Given the description of an element on the screen output the (x, y) to click on. 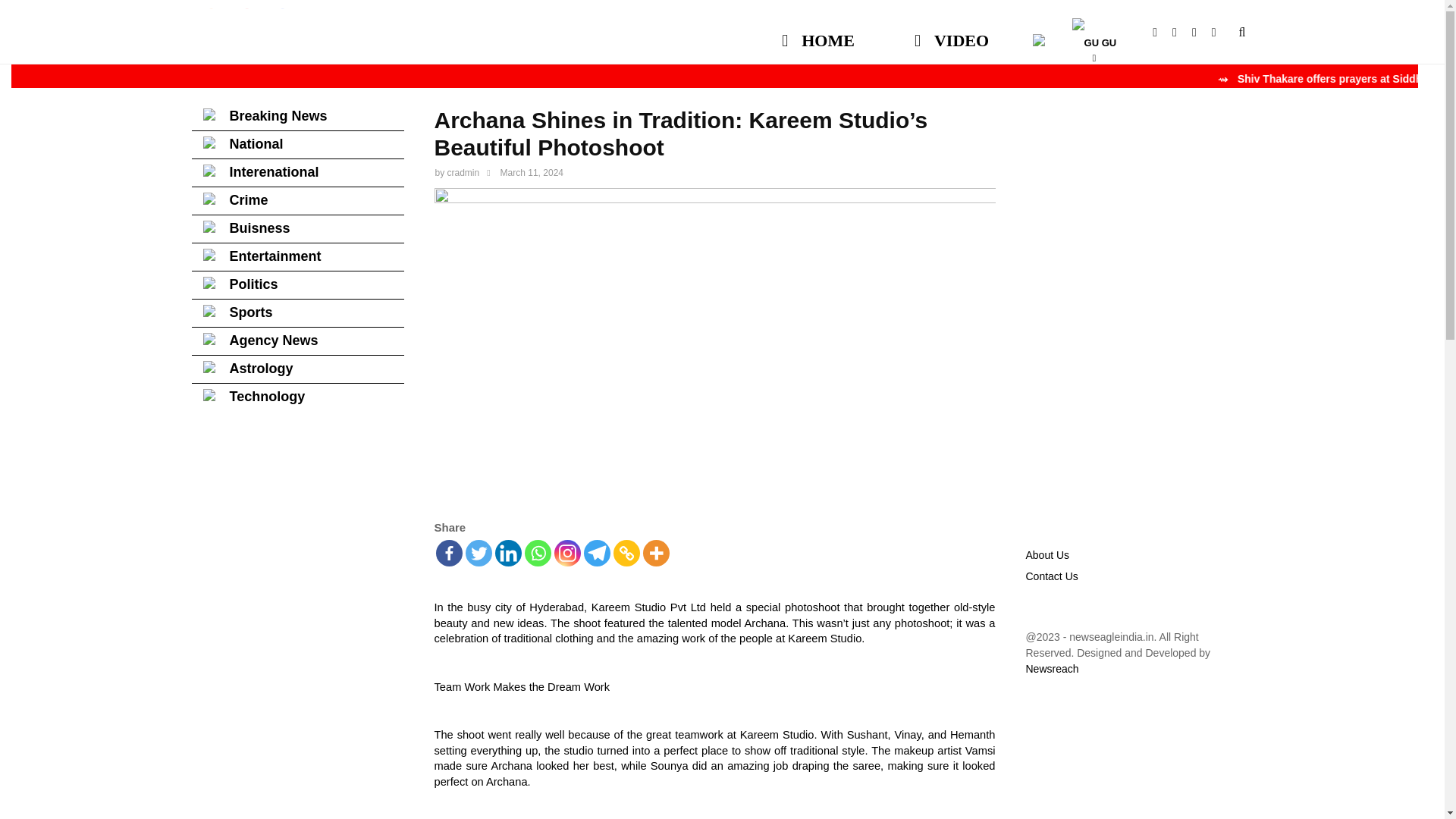
Telegram (596, 552)
HOME (818, 33)
Whatsapp (1221, 31)
Email (1201, 31)
VIDEO (950, 33)
Facebook (448, 552)
Copy Link (625, 552)
Facebook (1162, 31)
GU (1094, 33)
Linkedin (508, 552)
Youtube (1182, 31)
Whatsapp (537, 552)
Twitter (478, 552)
Instagram (566, 552)
More (656, 552)
